Given the description of an element on the screen output the (x, y) to click on. 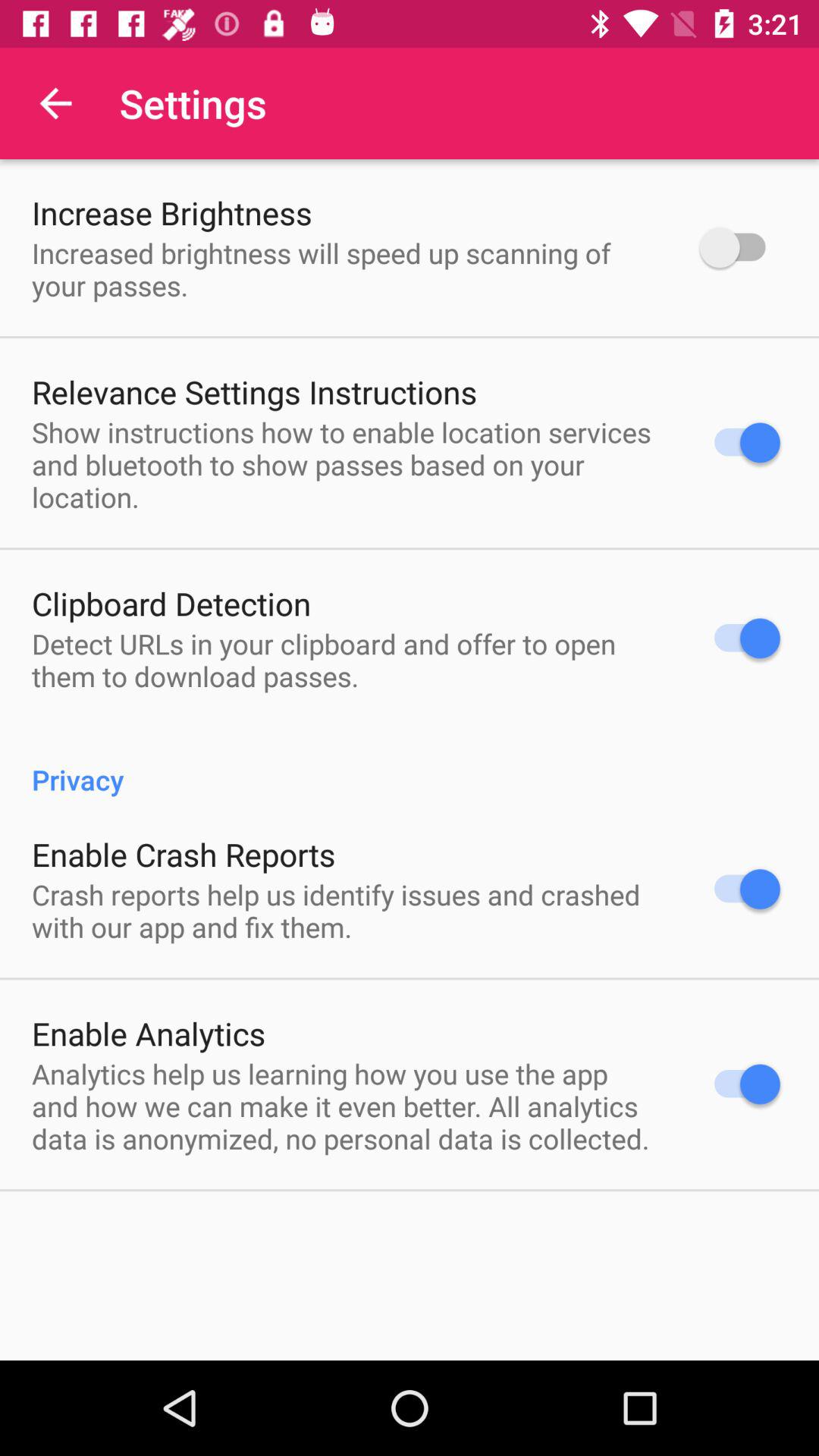
open relevance settings instructions icon (254, 391)
